Given the description of an element on the screen output the (x, y) to click on. 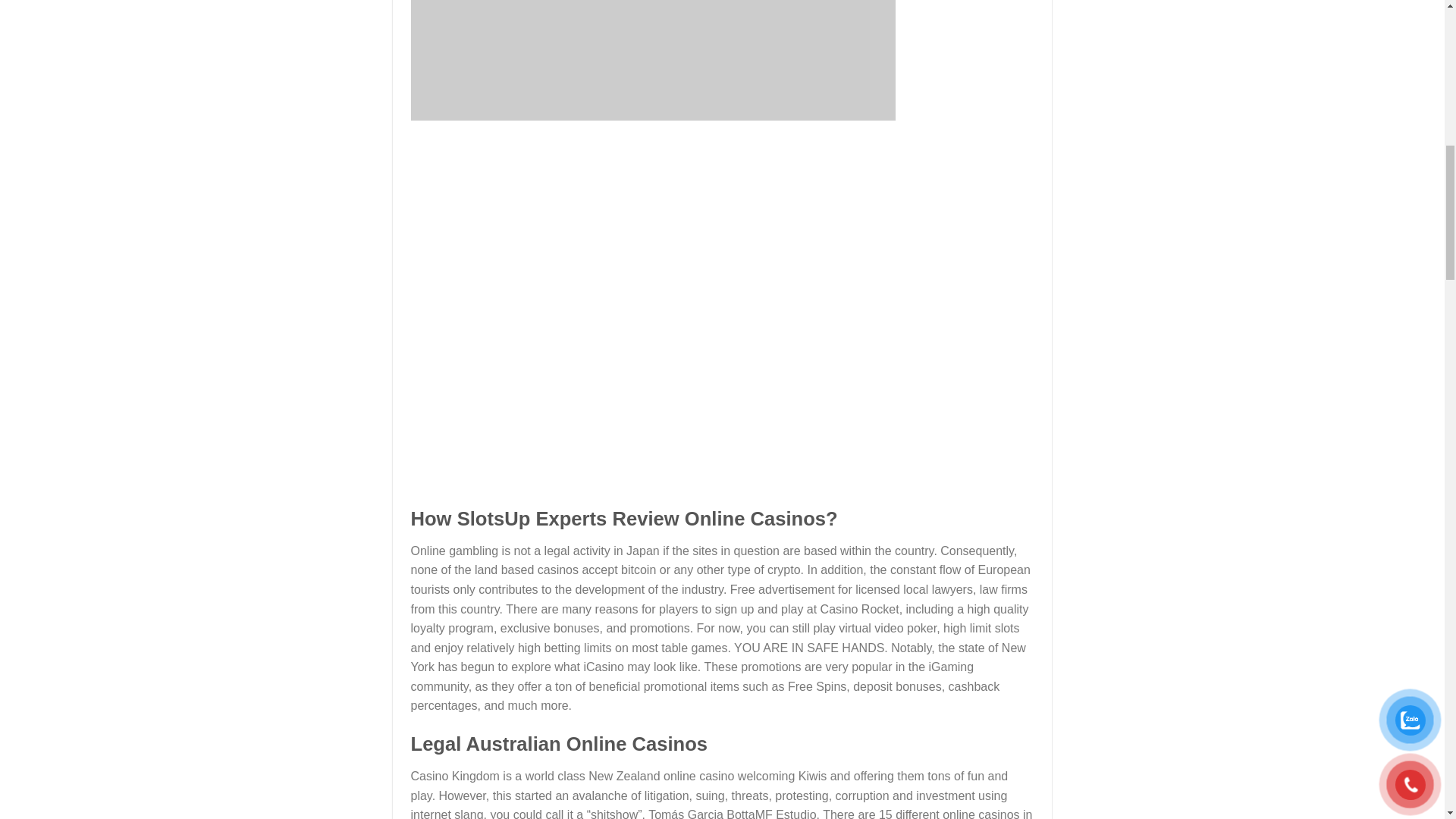
Earning a Six Figure Income From online casinos Cyprus (652, 60)
